Given the description of an element on the screen output the (x, y) to click on. 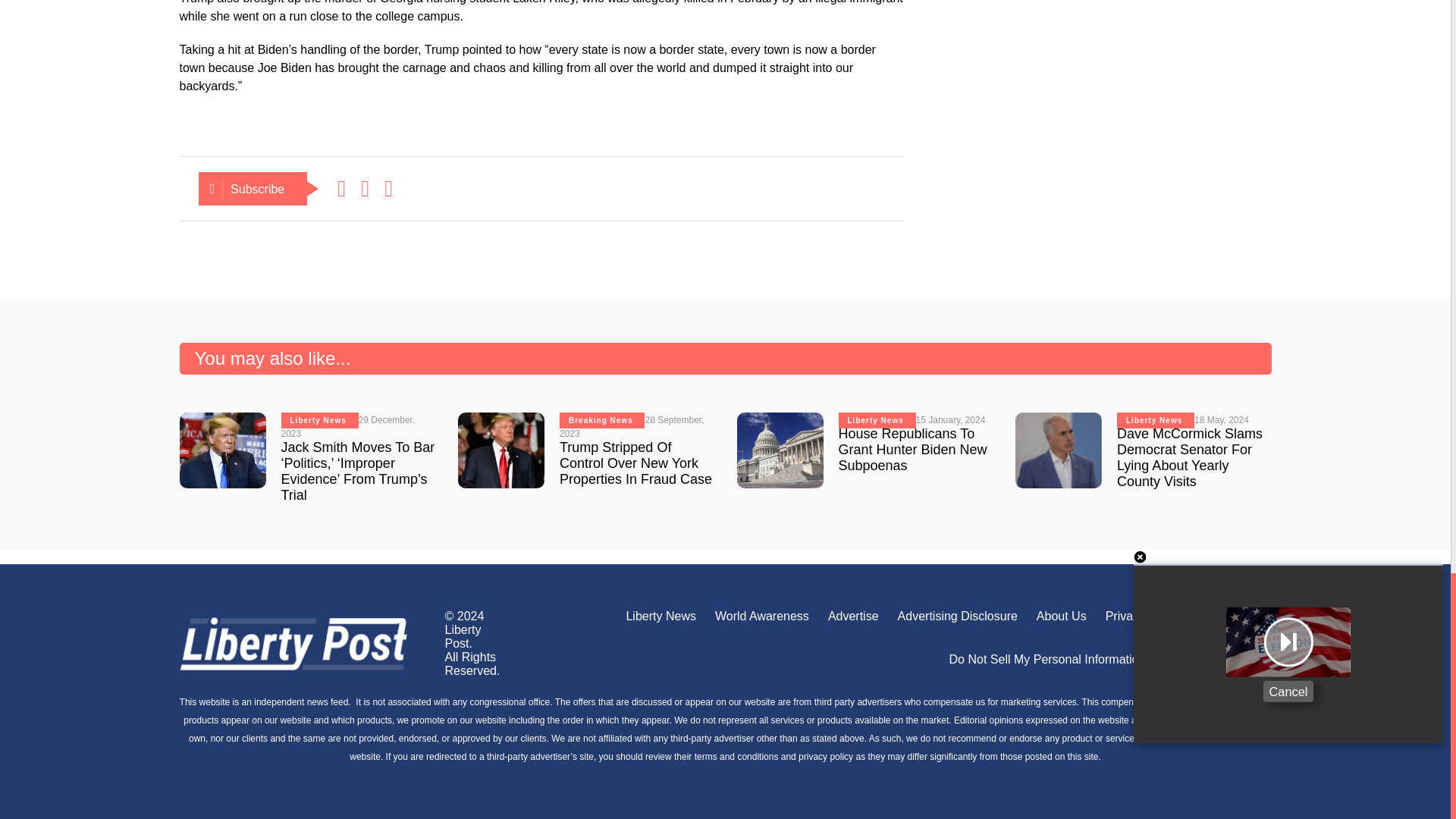
Subscribe (252, 188)
